Given the description of an element on the screen output the (x, y) to click on. 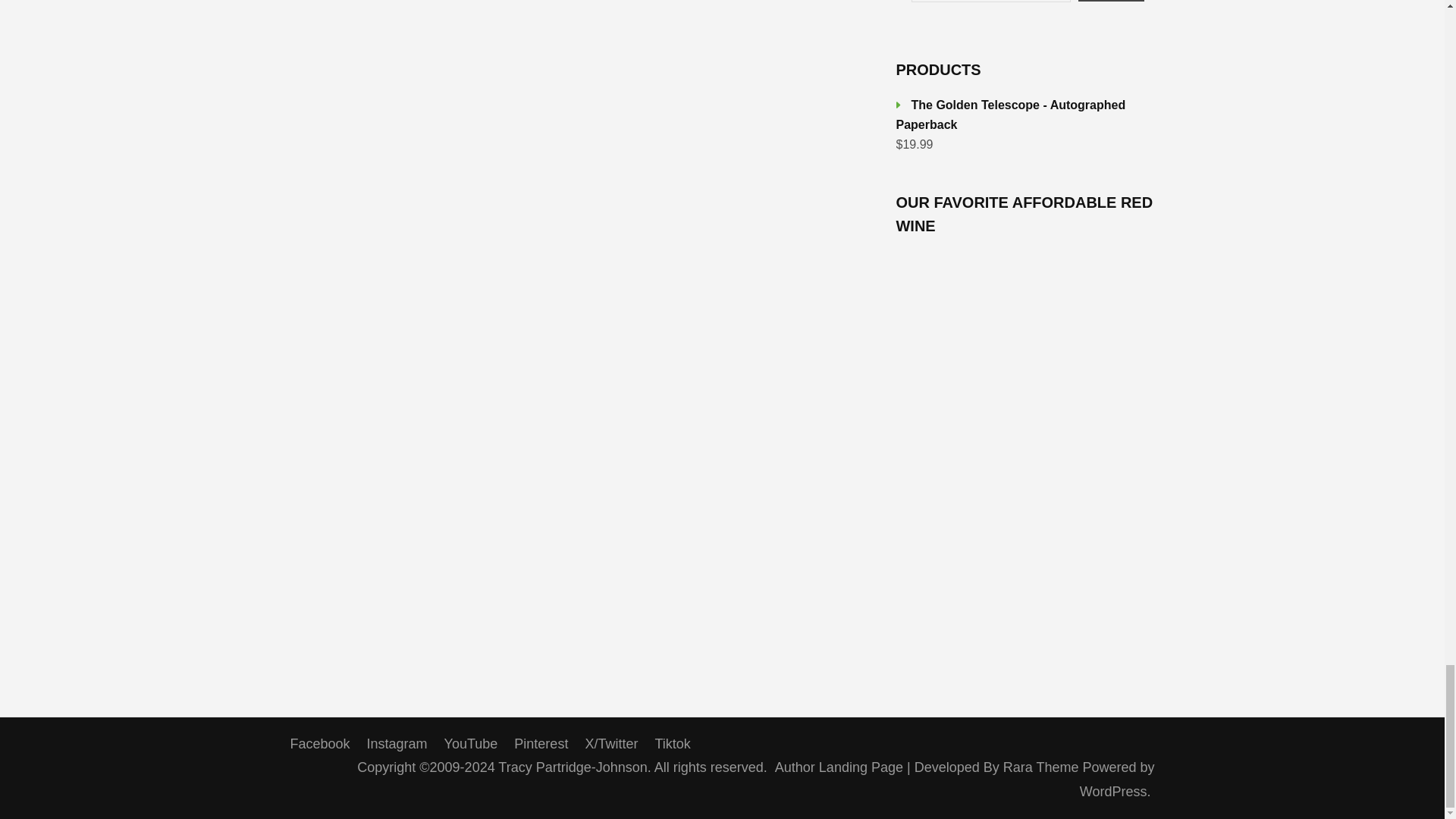
Instagram (397, 743)
YouTube (470, 743)
Facebook (319, 743)
JOIN! (1111, 0)
Pinterest (540, 743)
